Given the description of an element on the screen output the (x, y) to click on. 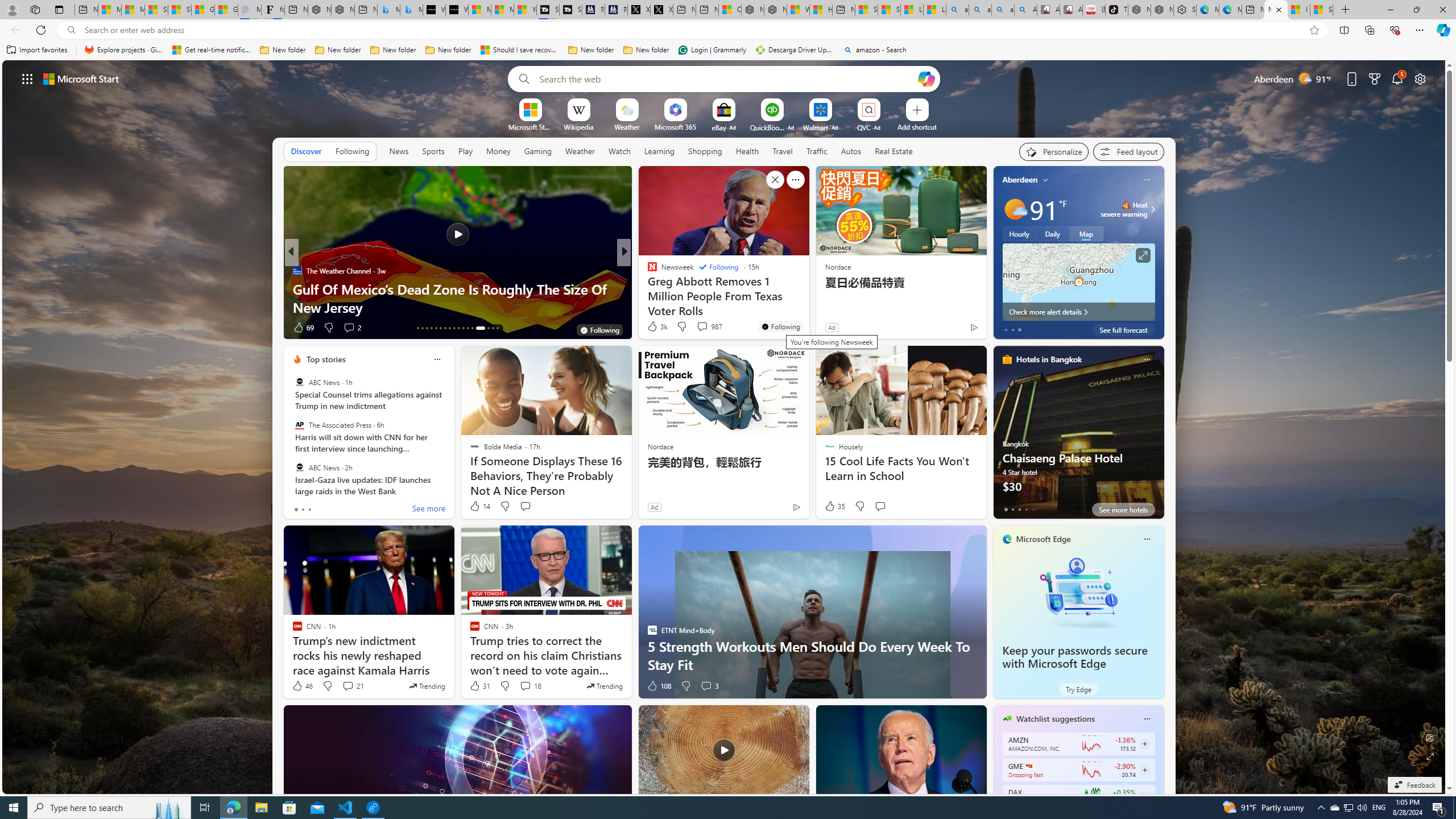
AutomationID: waffle (27, 78)
News (398, 151)
View comments 21 Comment (347, 685)
My location (1045, 179)
Top stories (325, 359)
241 Like (654, 327)
Class: weather-arrow-glyph (1152, 208)
AutomationID: backgroundImagePicture (723, 426)
View comments 18 Comment (530, 685)
View comments 987 Comment (701, 326)
Shopping (705, 151)
